Given the description of an element on the screen output the (x, y) to click on. 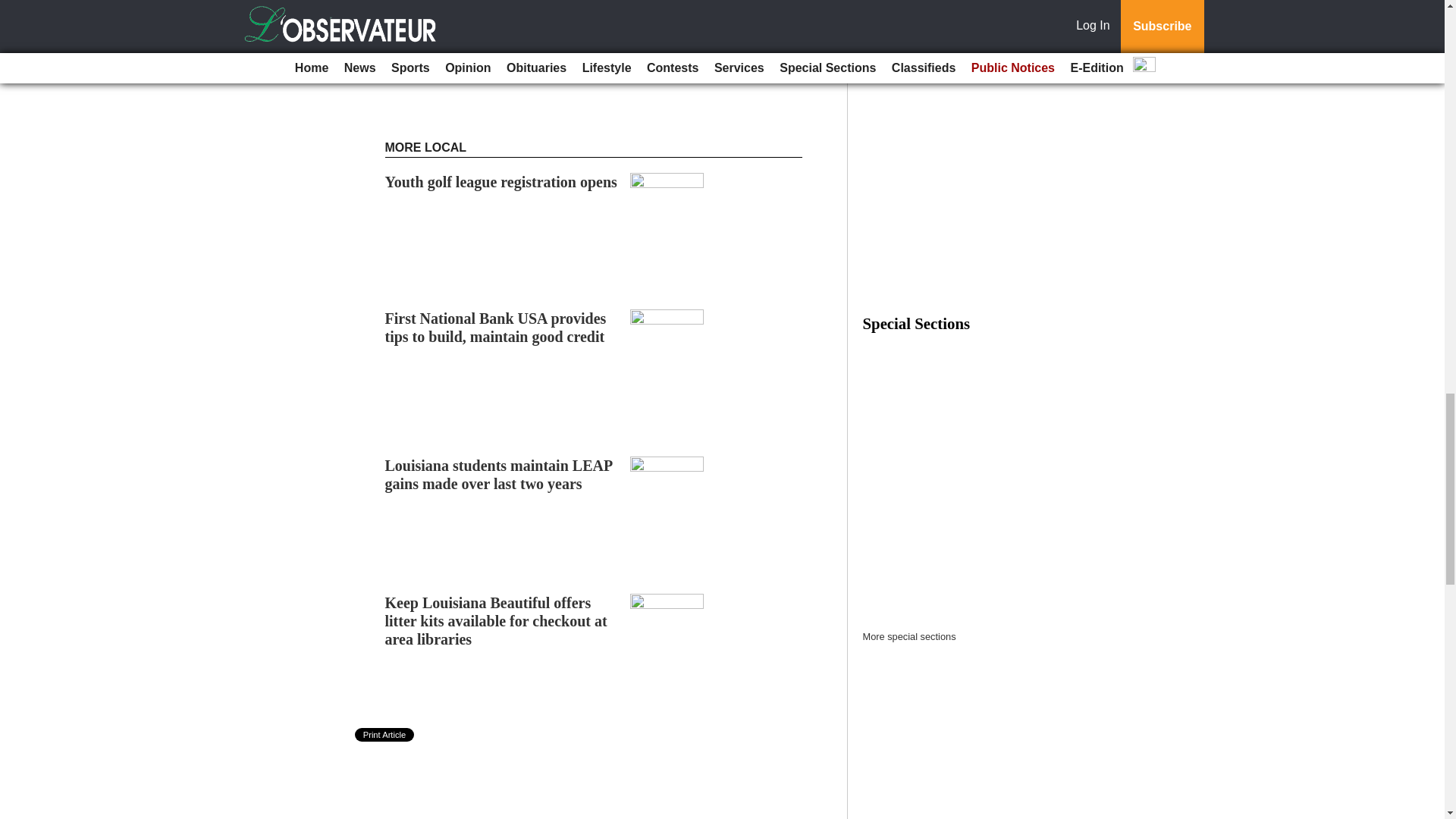
Youth golf league registration opens (501, 181)
Print Article (384, 735)
Youth golf league registration opens (501, 181)
